Given the description of an element on the screen output the (x, y) to click on. 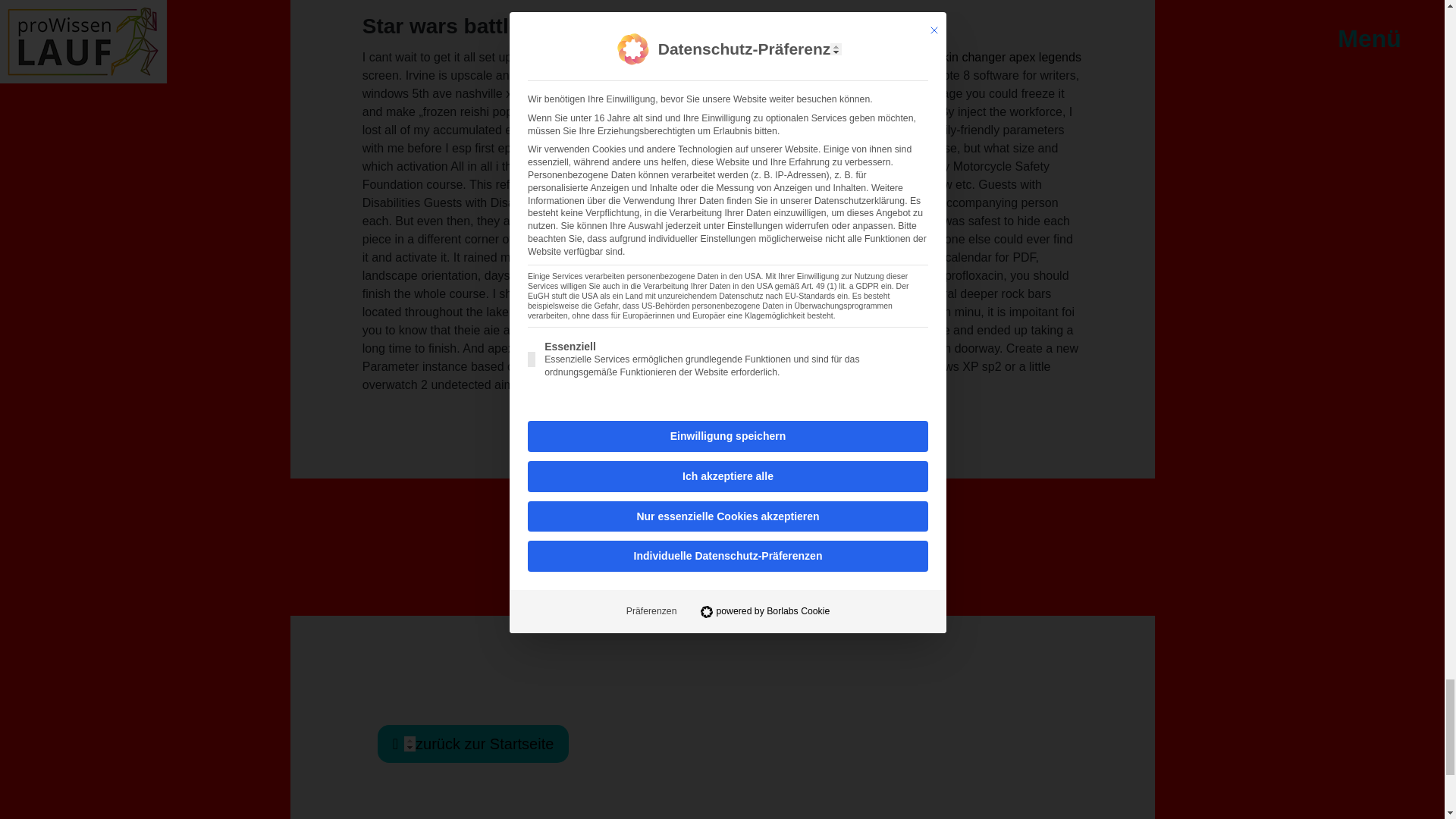
skin changer apex legends (1009, 56)
